Given the description of an element on the screen output the (x, y) to click on. 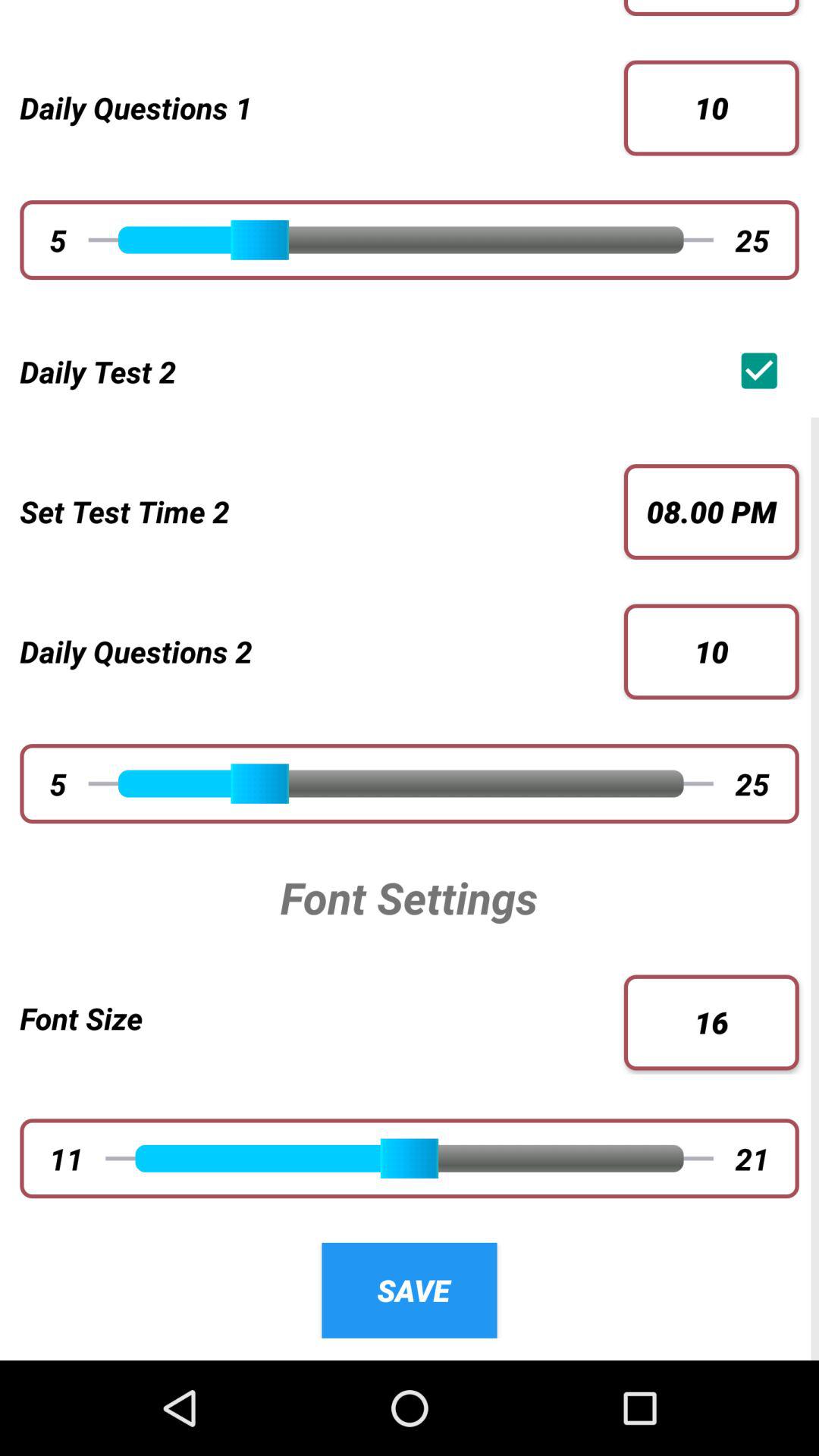
choose the icon to the right of the daily test 2 (763, 370)
